Given the description of an element on the screen output the (x, y) to click on. 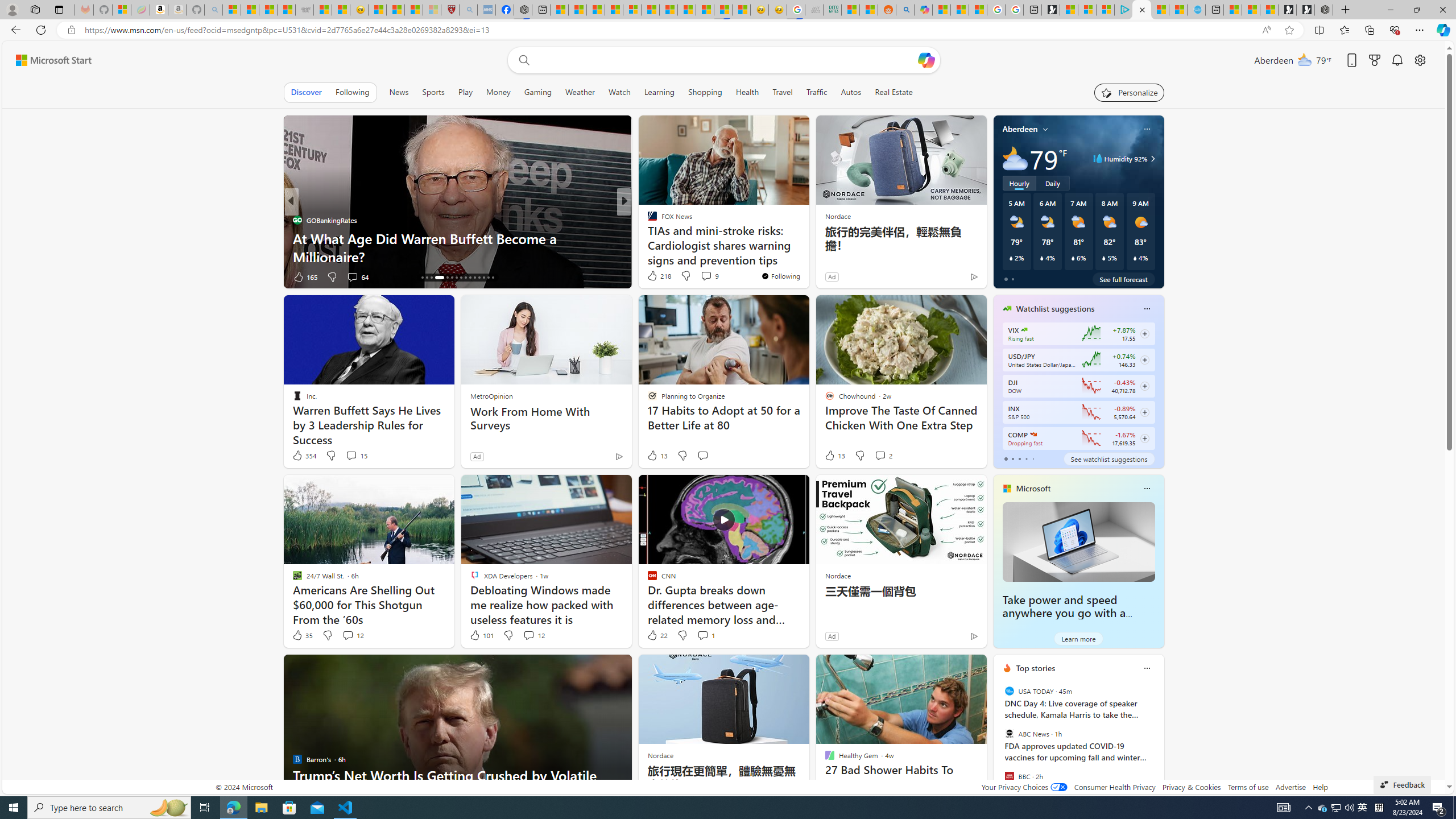
View comments 167 Comment (703, 276)
CBOE Market Volatility Index (1023, 329)
oceanbluemarine (668, 238)
